Given the description of an element on the screen output the (x, y) to click on. 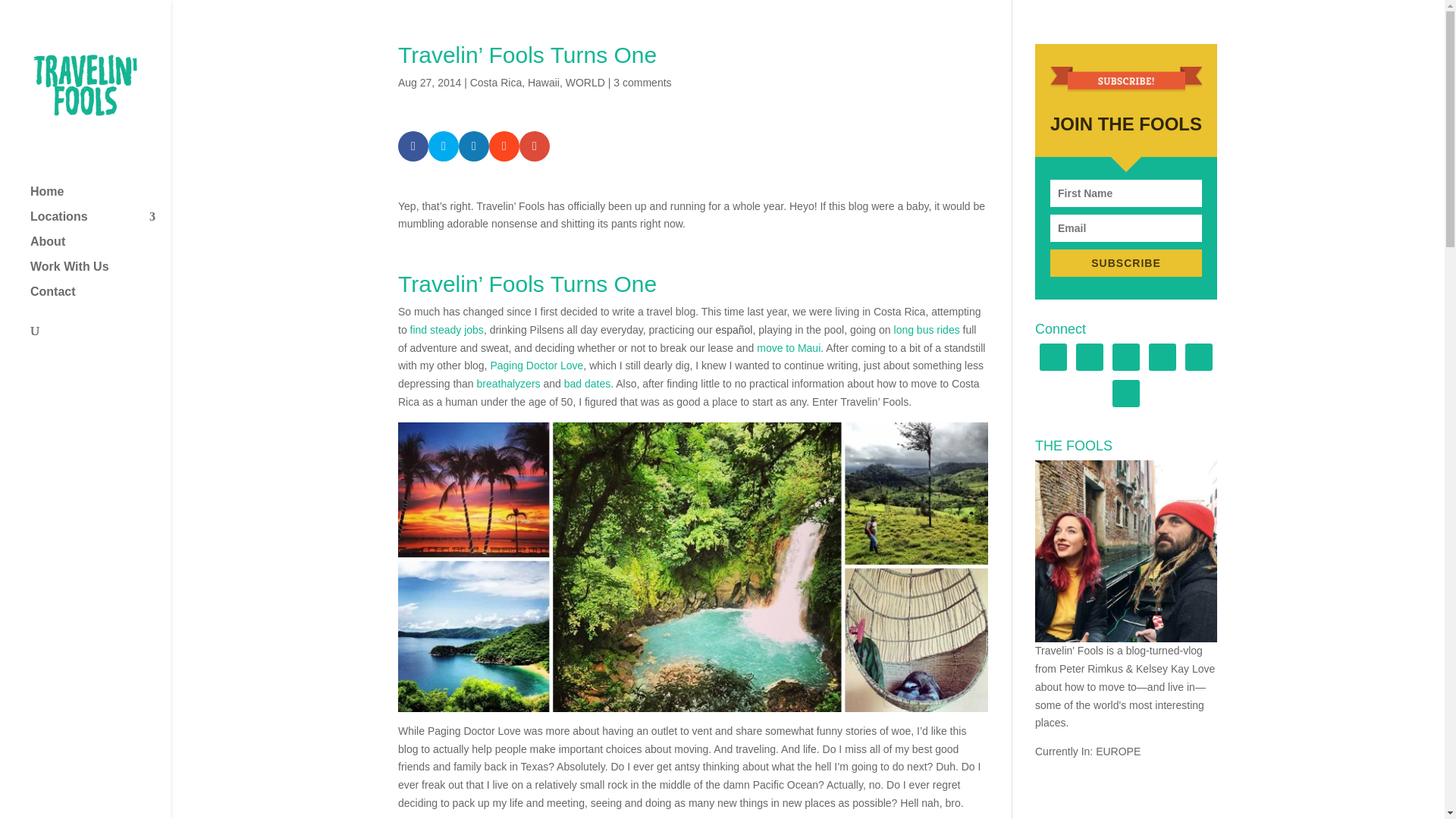
Home (100, 198)
About (100, 248)
Locations (100, 223)
THE FOOLS (1126, 551)
Work With Us (100, 273)
Contact (100, 299)
